Given the description of an element on the screen output the (x, y) to click on. 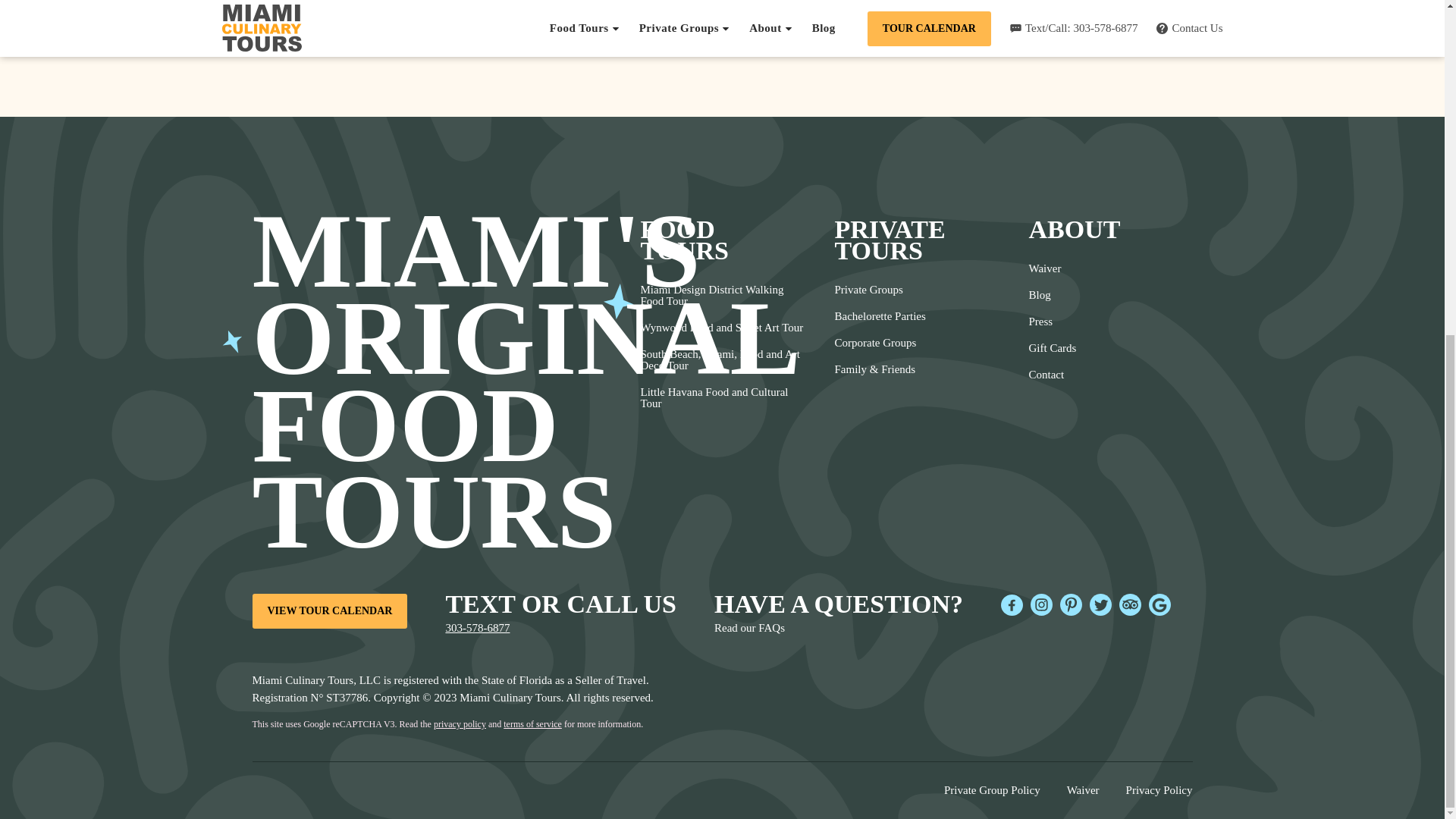
Wynwood Food and Street Art Tour (721, 327)
Private Groups (879, 289)
Corporate Groups (879, 343)
303-578-6877 (477, 627)
Gift Cards (1051, 347)
Waiver (1051, 268)
South Beach, Miami, Food and Art Deco Tour (721, 360)
Little Havana Food and Cultural Tour (721, 397)
Contact (1051, 374)
VIEW TOUR CALENDAR (329, 610)
